Given the description of an element on the screen output the (x, y) to click on. 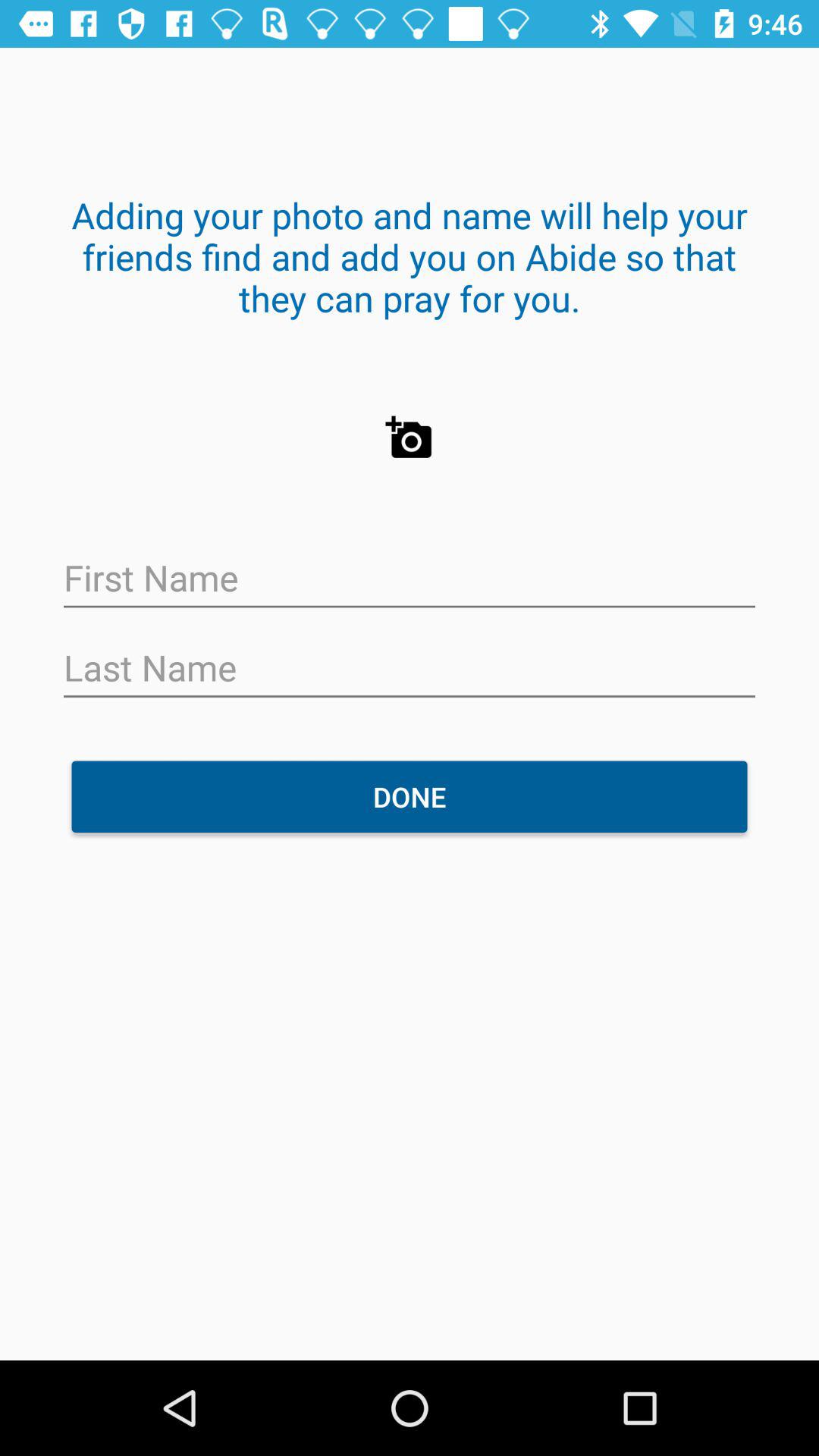
launch icon below adding your photo (409, 437)
